Given the description of an element on the screen output the (x, y) to click on. 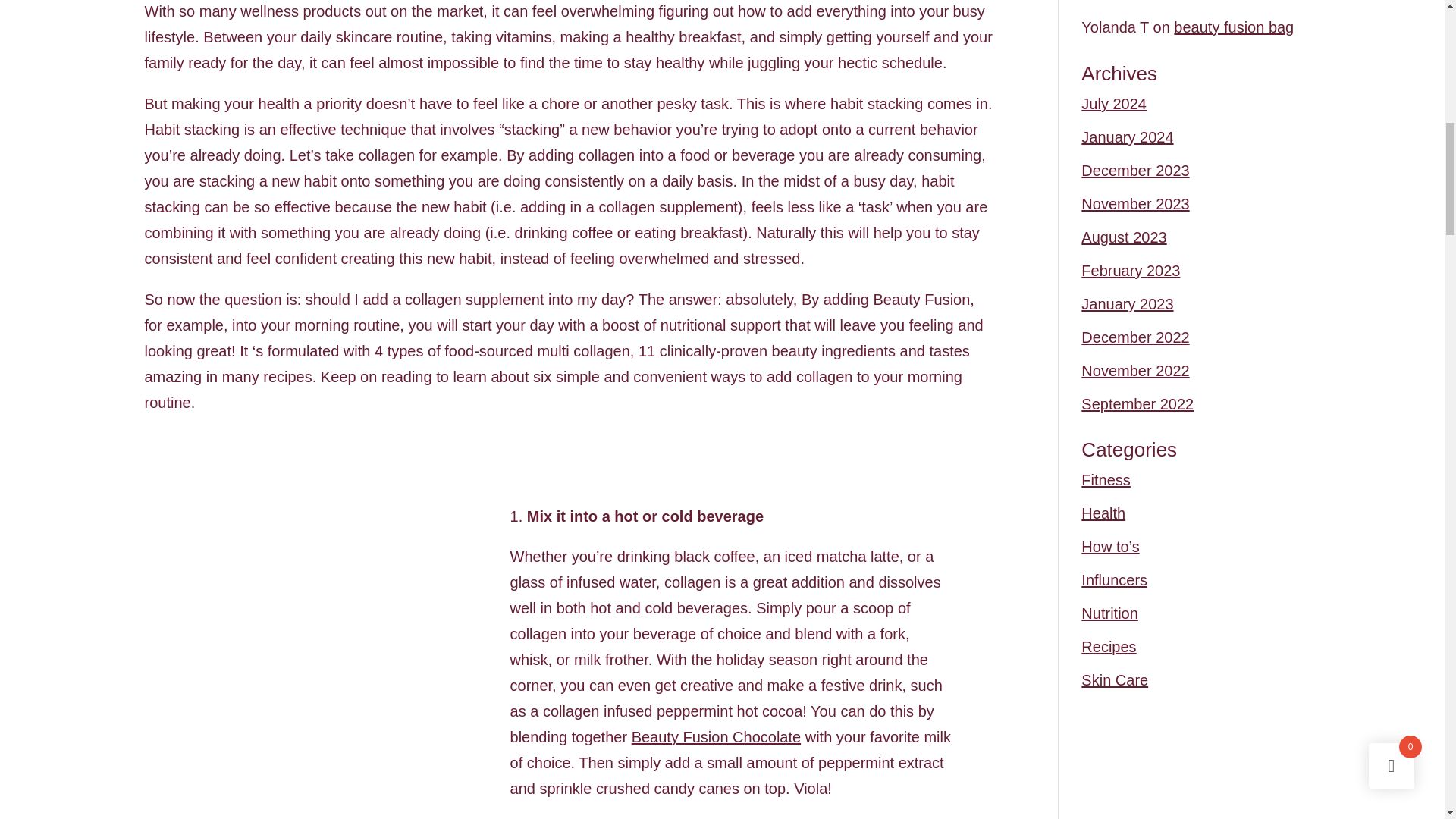
November 2023 (1135, 203)
August 2023 (1123, 237)
December 2023 (1135, 170)
January 2024 (1127, 136)
July 2024 (1114, 103)
beauty fusion bag (1233, 27)
Beauty Fusion Chocolate (715, 736)
